Given the description of an element on the screen output the (x, y) to click on. 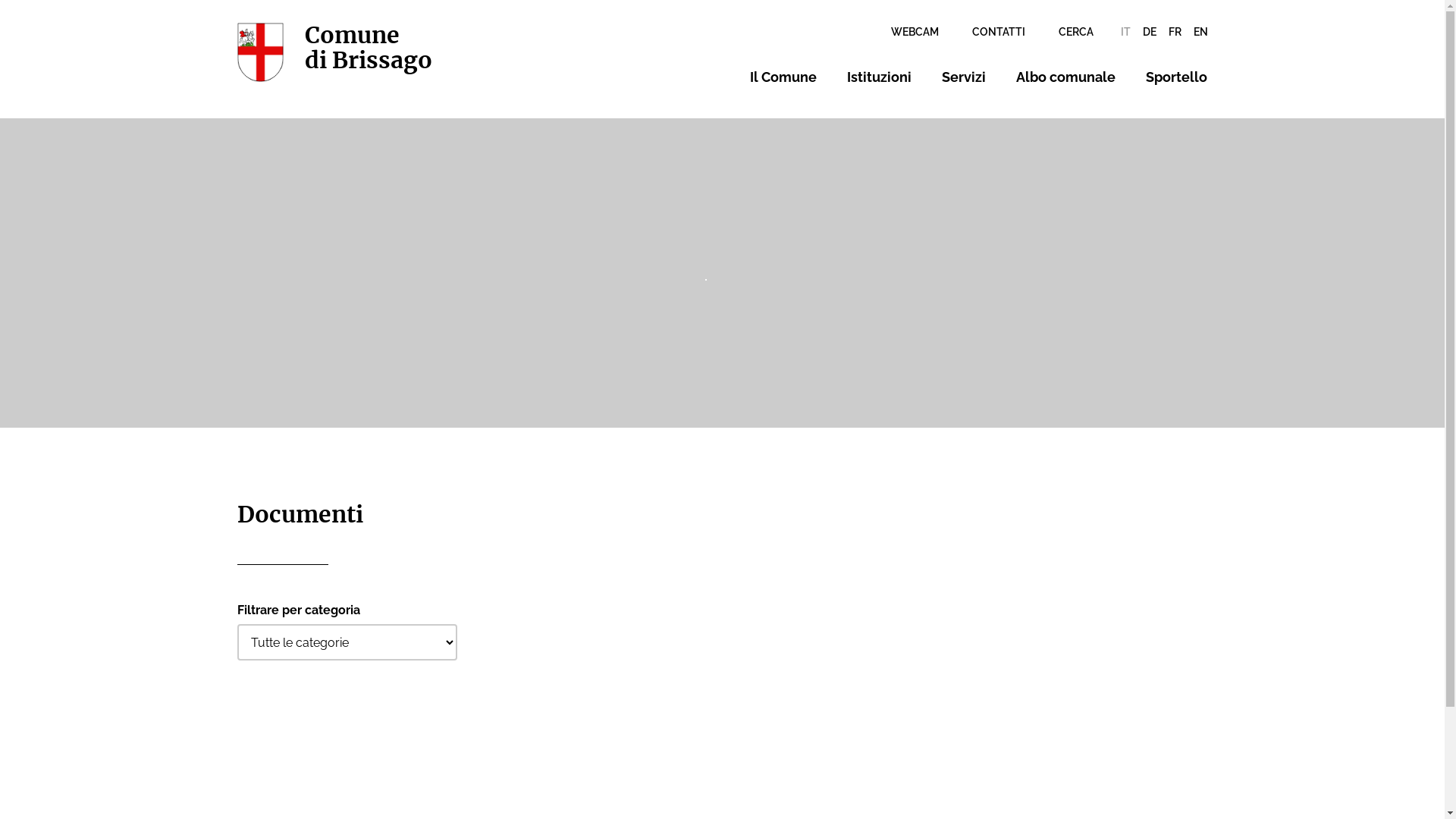
Albo comunale Element type: text (1065, 76)
Sportello Element type: text (1176, 76)
DE Element type: text (1148, 31)
FR Element type: text (1173, 31)
Comune
di Brissago Element type: text (334, 51)
EN Element type: text (1200, 31)
WEBCAM Element type: text (914, 31)
CONTATTI Element type: text (998, 31)
Istituzioni Element type: text (879, 76)
Il Comune Element type: text (782, 76)
Servizi Element type: text (963, 76)
IT Element type: text (1125, 31)
